Given the description of an element on the screen output the (x, y) to click on. 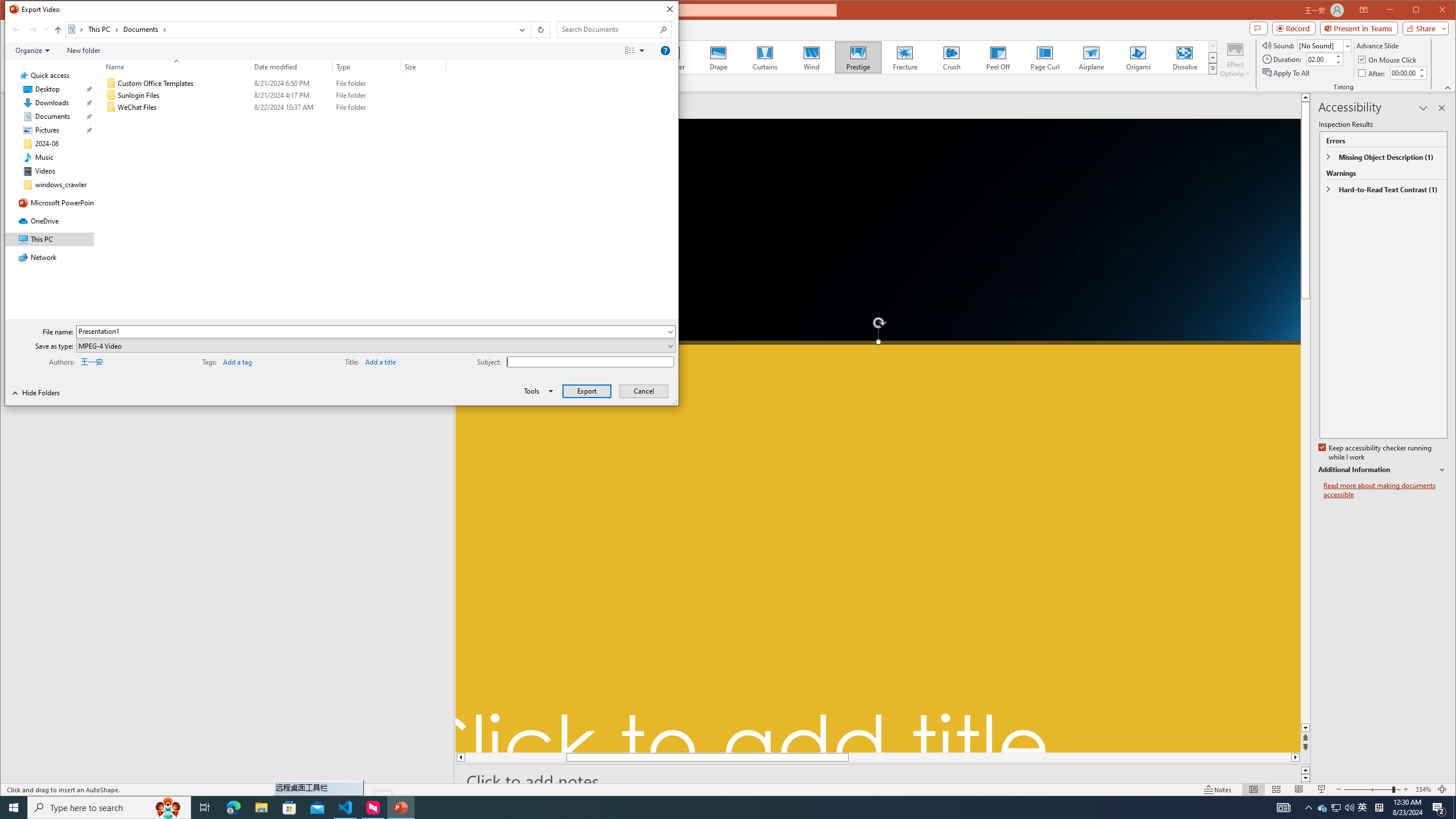
Sound (1324, 45)
After (1403, 72)
Hide Folders (36, 392)
Custom Office Templates (273, 83)
